Given the description of an element on the screen output the (x, y) to click on. 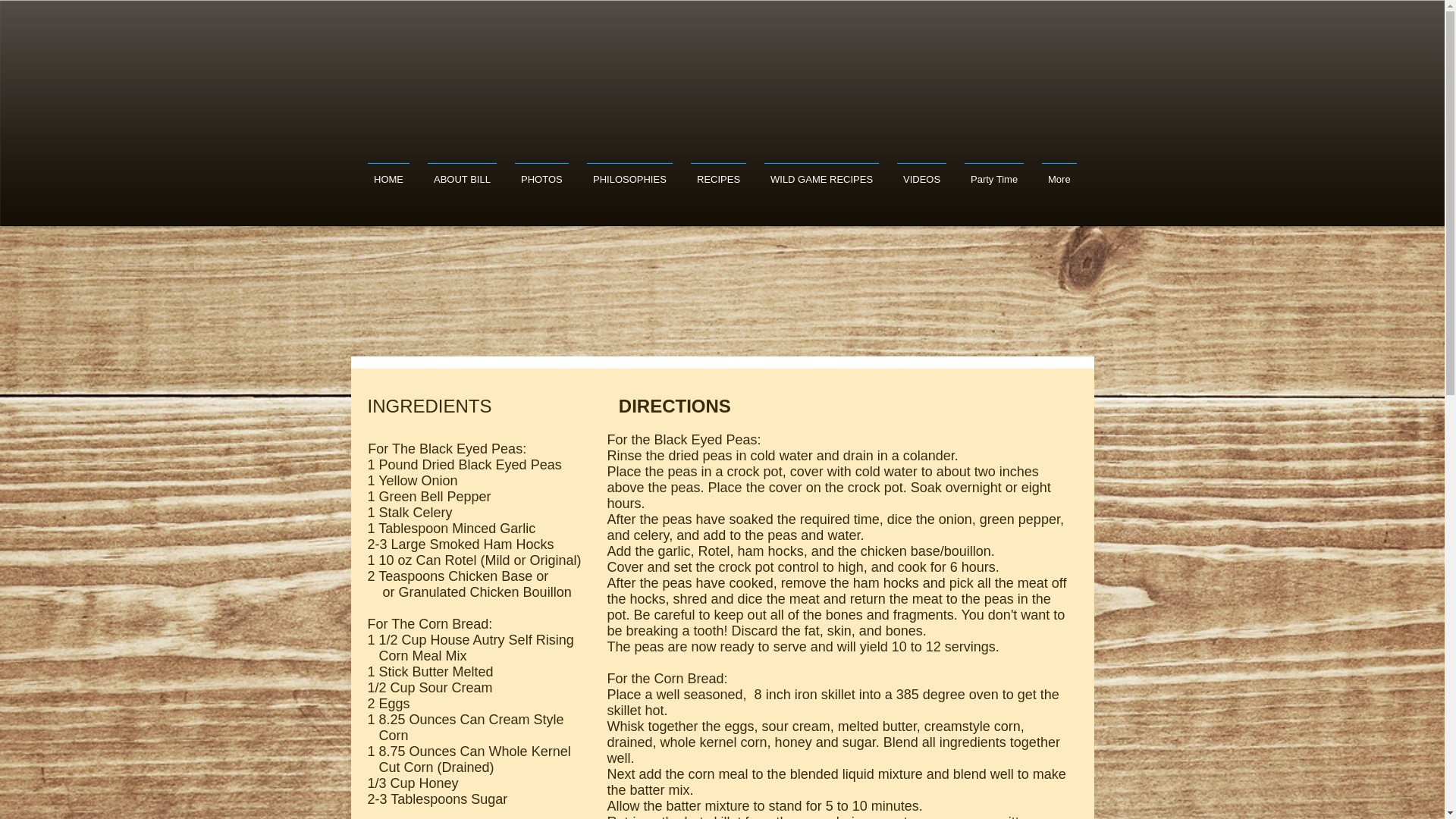
ABOUT BILL (462, 171)
RECIPES (718, 171)
Party Time (993, 171)
WILD GAME RECIPES (821, 171)
VIDEOS (921, 171)
PHOTOS (541, 171)
HOME (388, 171)
PHILOSOPHIES (629, 171)
